Given the description of an element on the screen output the (x, y) to click on. 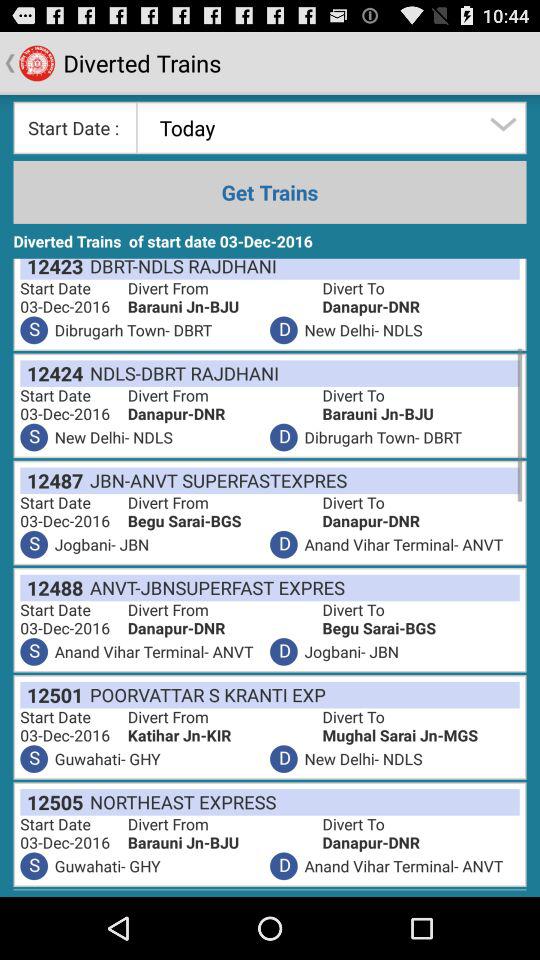
choose item next to the 12501 (204, 694)
